Given the description of an element on the screen output the (x, y) to click on. 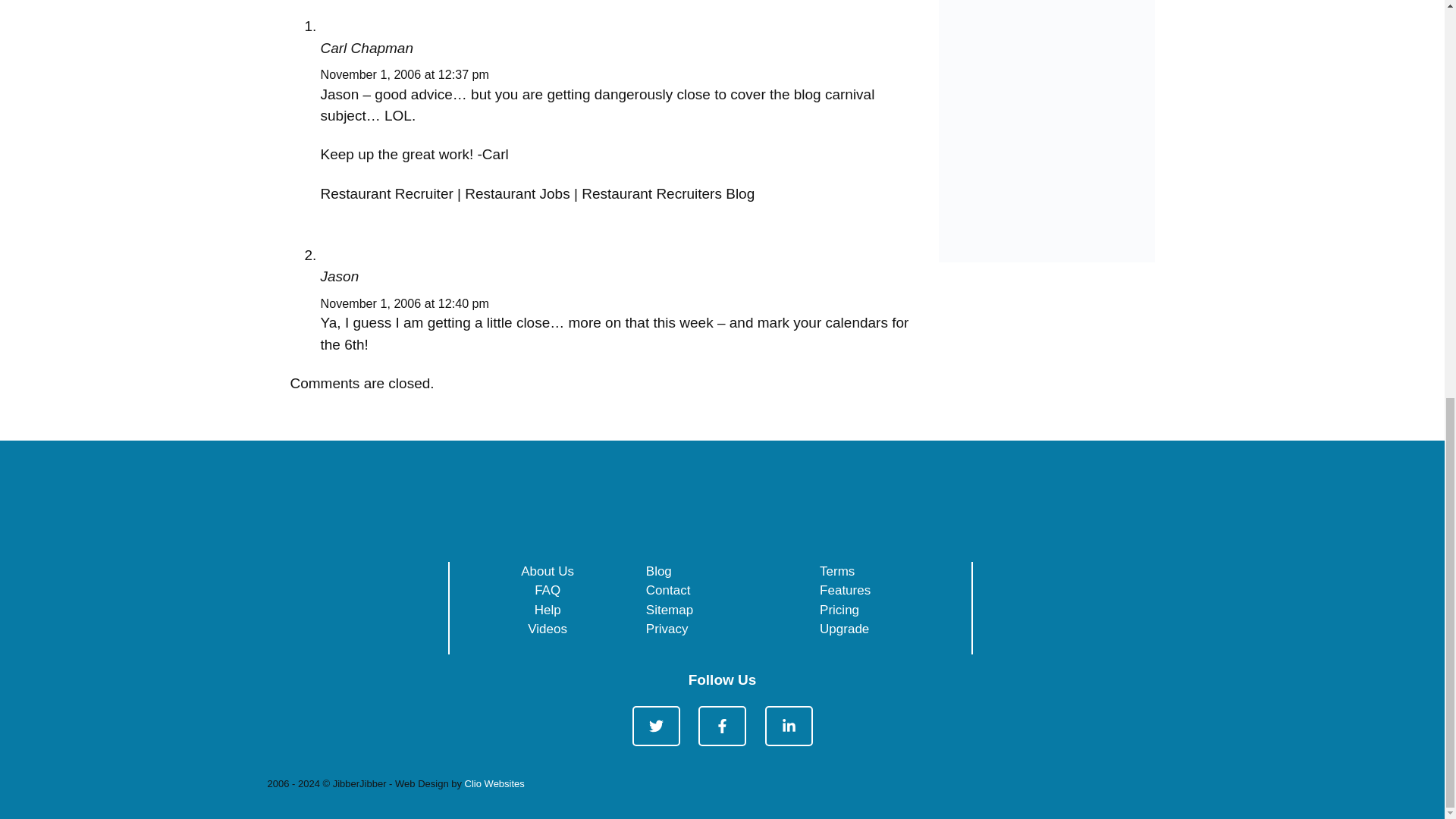
November 1, 2006 at 12:40 pm (404, 303)
About Us (547, 571)
Restaurant Recruiter (386, 193)
Restaurant Jobs (516, 193)
Carl Chapman (366, 48)
Restaurant Recruiters Blog (667, 193)
FAQ (547, 590)
Jason (339, 276)
November 1, 2006 at 12:37 pm (404, 74)
